Given the description of an element on the screen output the (x, y) to click on. 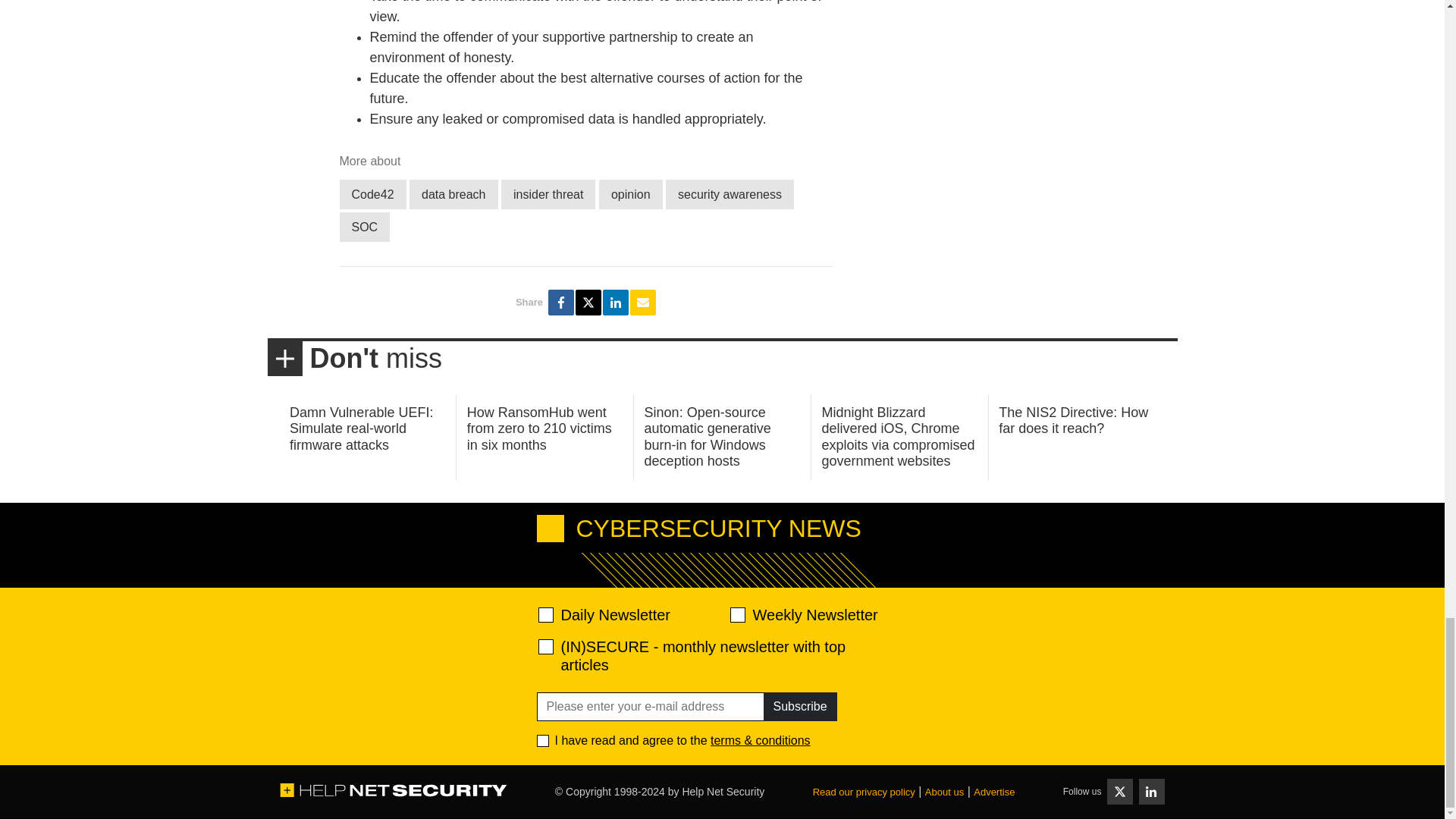
Code42 (372, 194)
Share To avoid insider threats, try empathy on LinkedIn (615, 302)
d2d471aafa (736, 614)
Share To avoid insider threats, try empathy on Facebook (560, 302)
opinion (630, 194)
Share To avoid insider threats, try empathy on Twitter (588, 302)
security awareness (729, 194)
opinion (630, 194)
insider threat (547, 194)
SOC (364, 226)
